Given the description of an element on the screen output the (x, y) to click on. 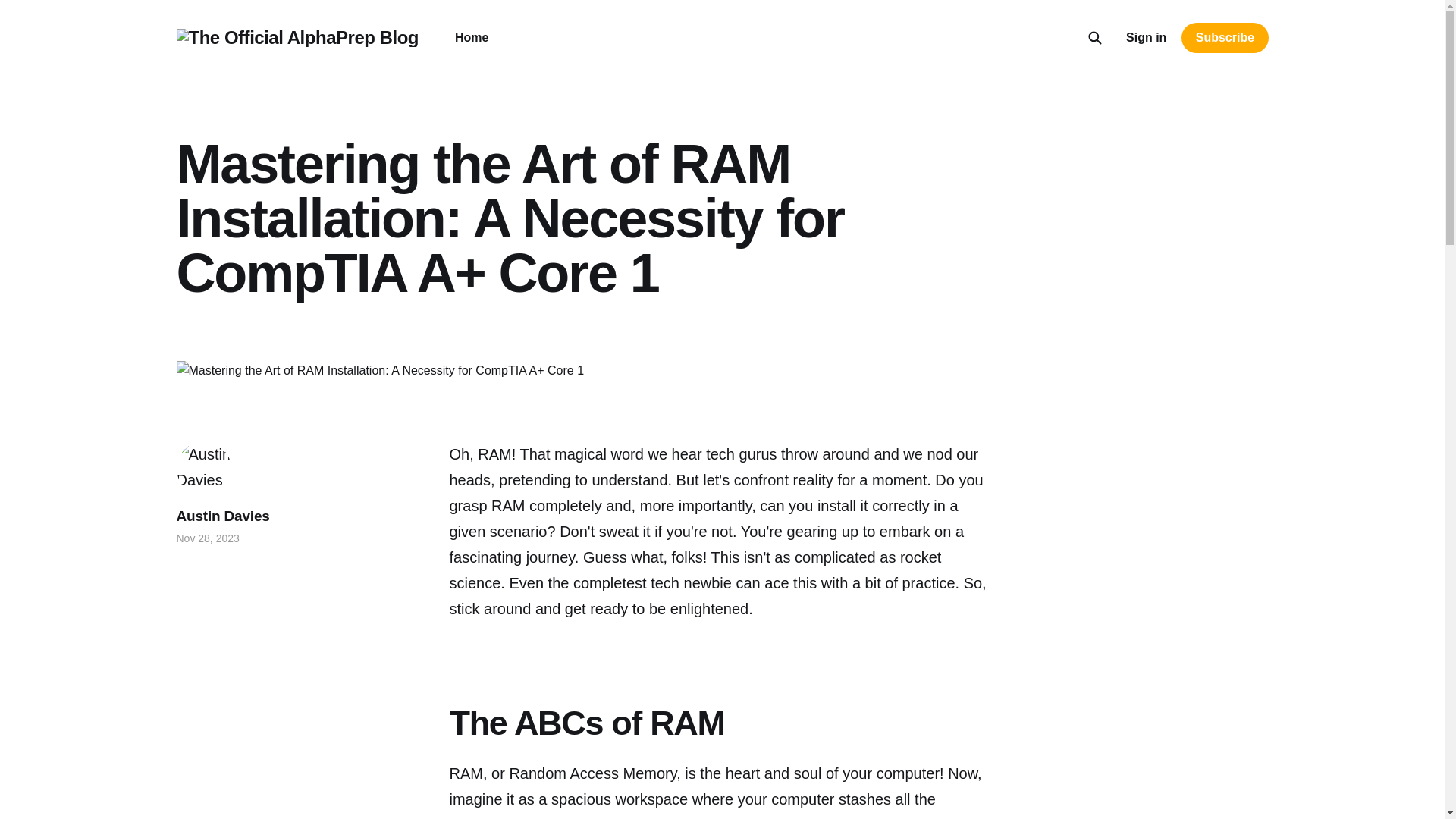
Austin Davies (222, 515)
Sign in (1145, 37)
Home (470, 37)
Subscribe (1224, 37)
